Given the description of an element on the screen output the (x, y) to click on. 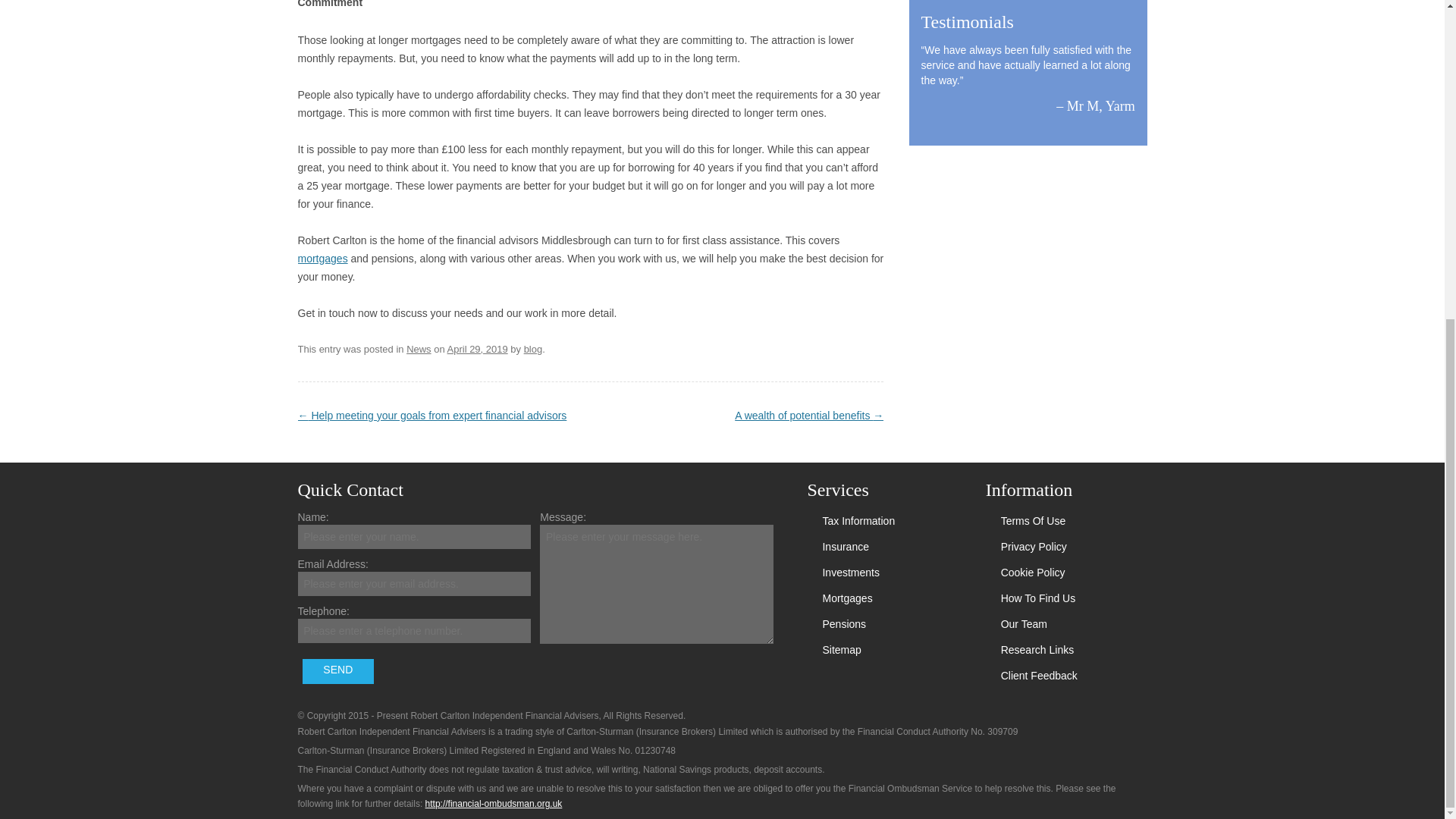
Cookie Policy (1033, 572)
10:22 am (477, 348)
Tax Information (858, 521)
April 29, 2019 (477, 348)
Terms Of Use (1033, 521)
How To Find Us (1038, 598)
Investments (850, 572)
Mortgages (847, 598)
News (418, 348)
Send (338, 671)
blog (533, 348)
Sitemap (841, 649)
Privacy Policy (1034, 546)
Insurance (844, 546)
Pensions (844, 623)
